Given the description of an element on the screen output the (x, y) to click on. 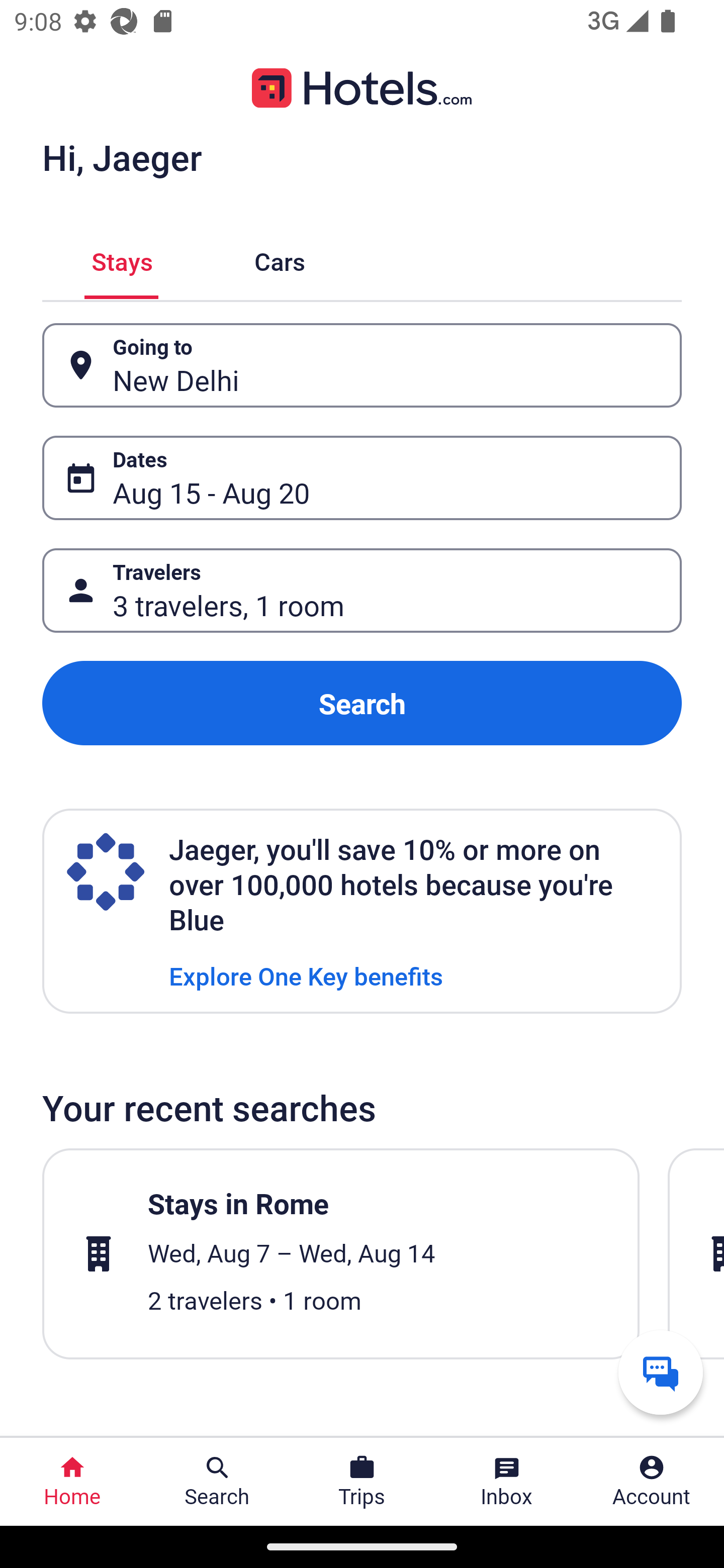
Hi, Jaeger (121, 156)
Cars (279, 259)
Going to Button New Delhi (361, 365)
Dates Button Aug 15 - Aug 20 (361, 477)
Travelers Button 3 travelers, 1 room (361, 590)
Search (361, 702)
Get help from a virtual agent (660, 1371)
Search Search Button (216, 1481)
Trips Trips Button (361, 1481)
Inbox Inbox Button (506, 1481)
Account Profile. Button (651, 1481)
